Given the description of an element on the screen output the (x, y) to click on. 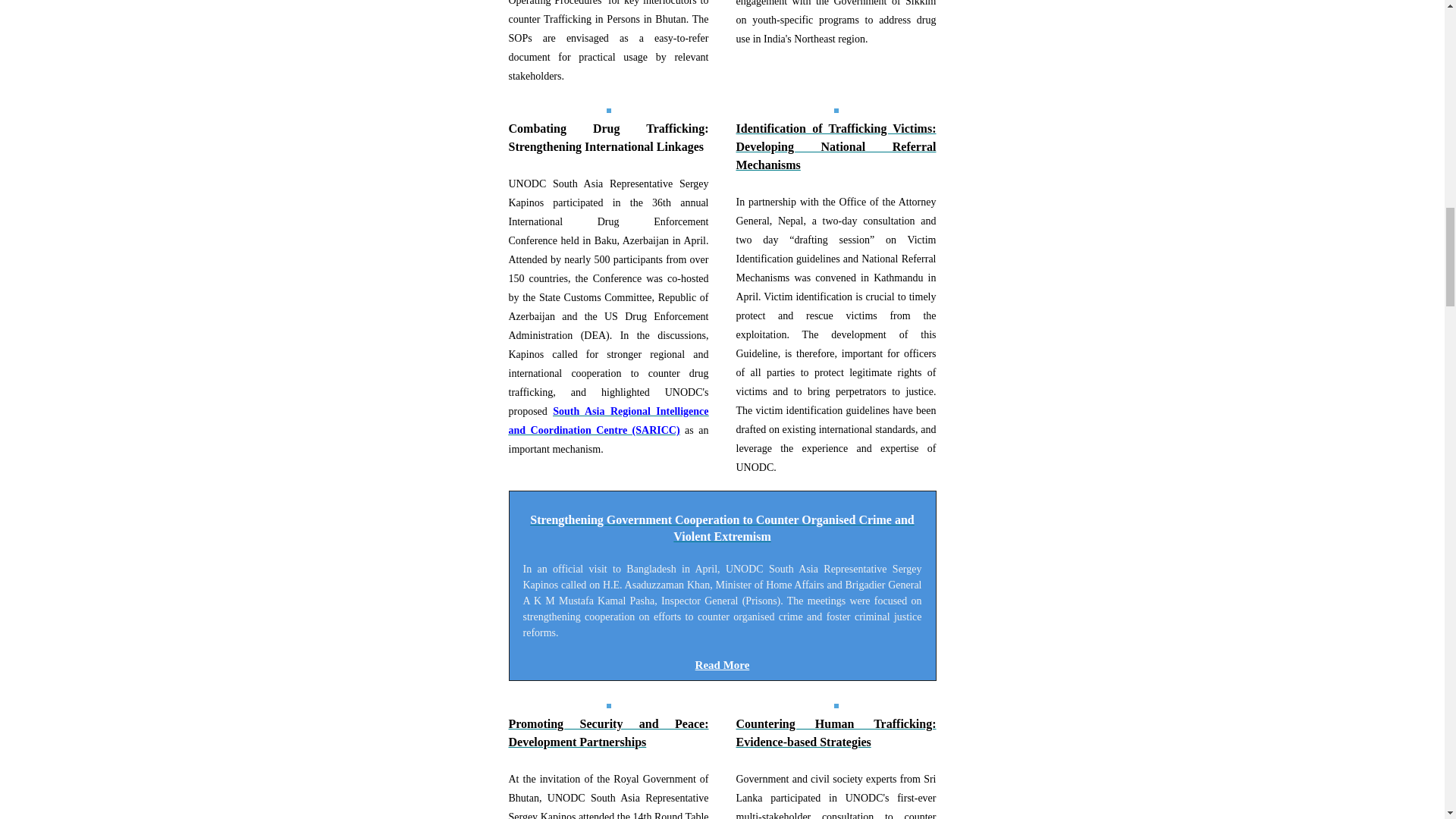
Promoting Security and Peace: Development Partnerships (607, 732)
Read More (722, 664)
Countering Human Trafficking: Evidence-based Strategies (835, 732)
